Given the description of an element on the screen output the (x, y) to click on. 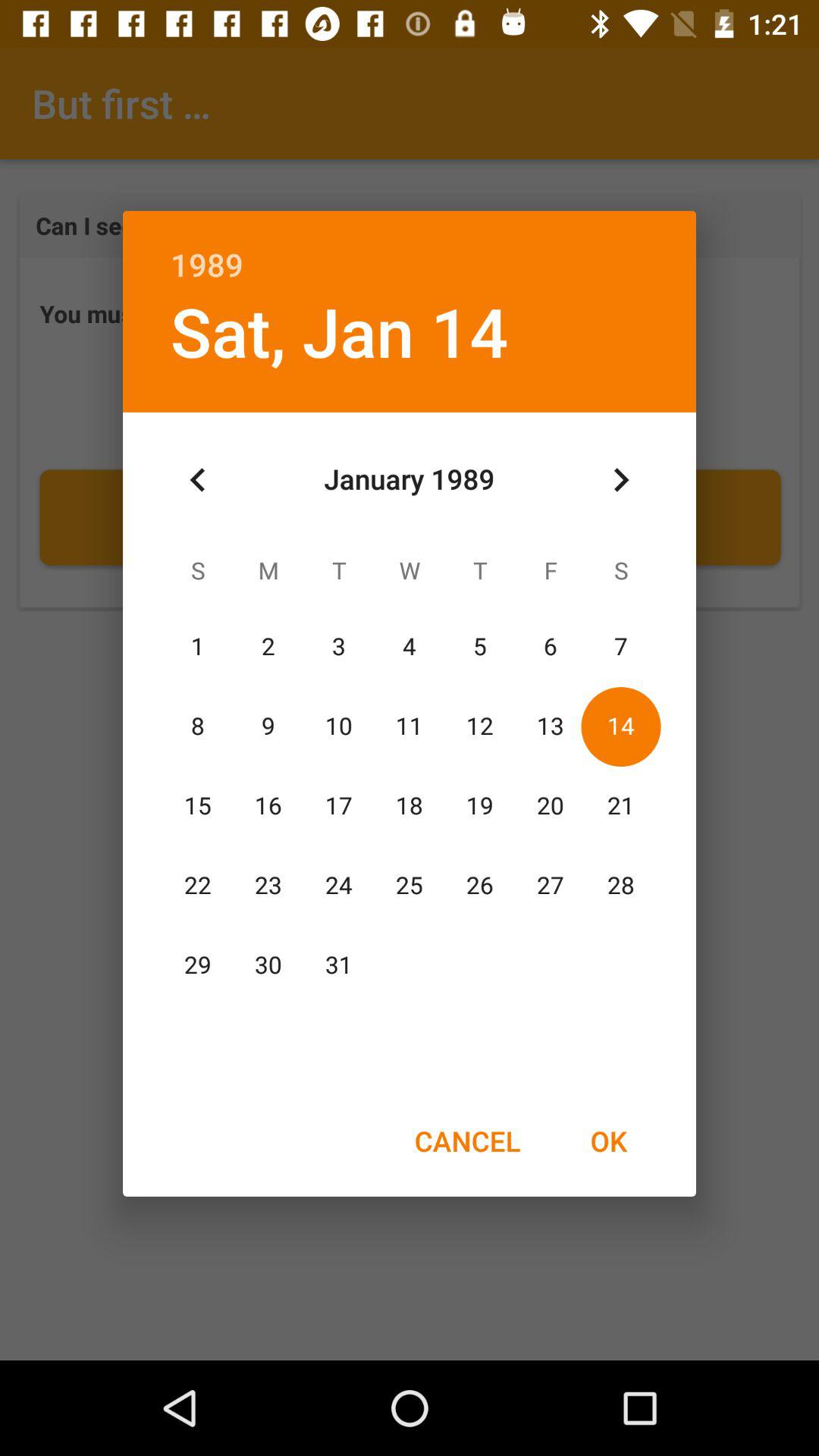
turn off sat, jan 14 (339, 331)
